Given the description of an element on the screen output the (x, y) to click on. 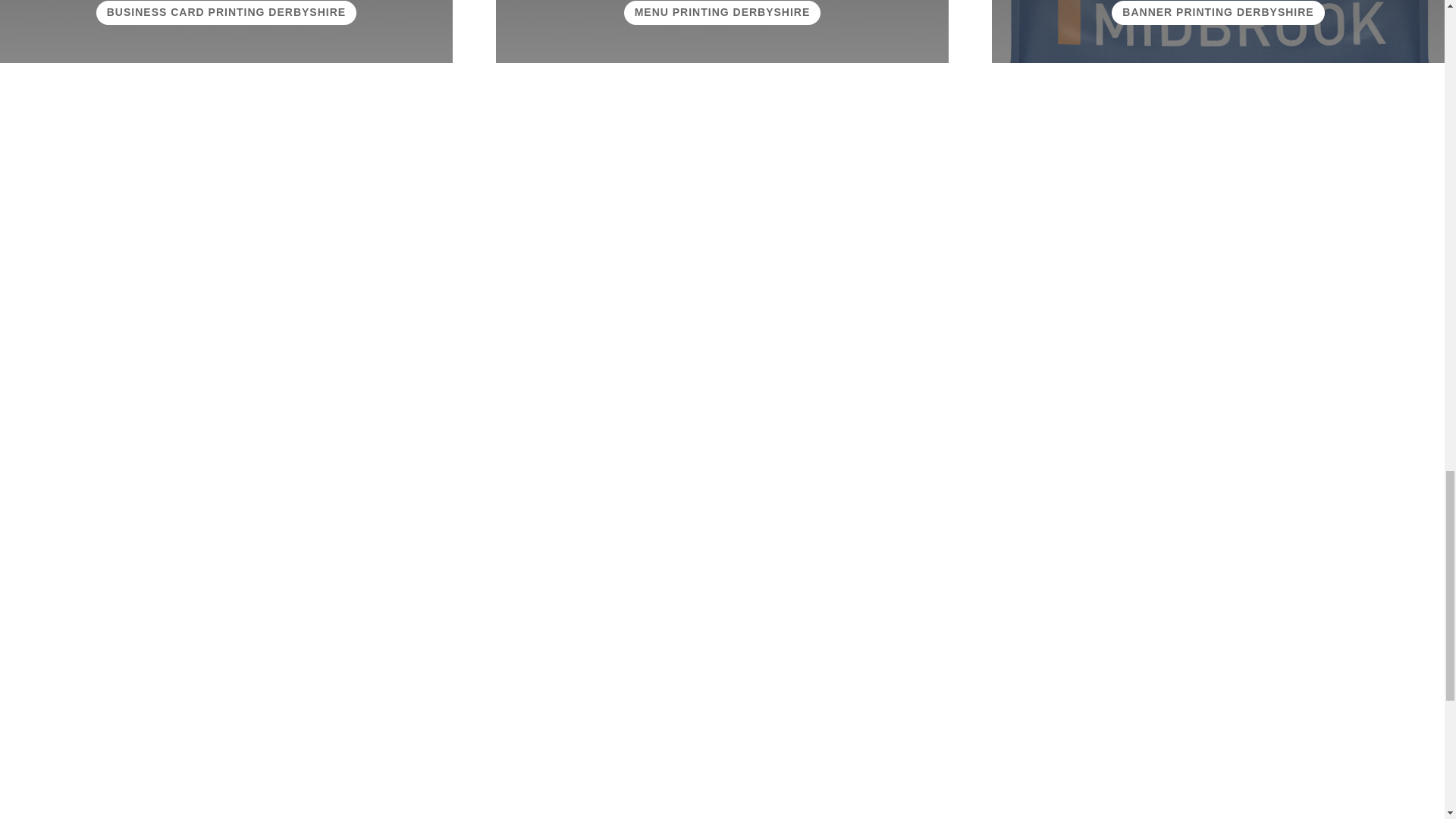
BUSINESS CARD PRINTING DERBYSHIRE (226, 12)
BANNER PRINTING DERBYSHIRE (1217, 12)
MENU PRINTING DERBYSHIRE (722, 12)
